Given the description of an element on the screen output the (x, y) to click on. 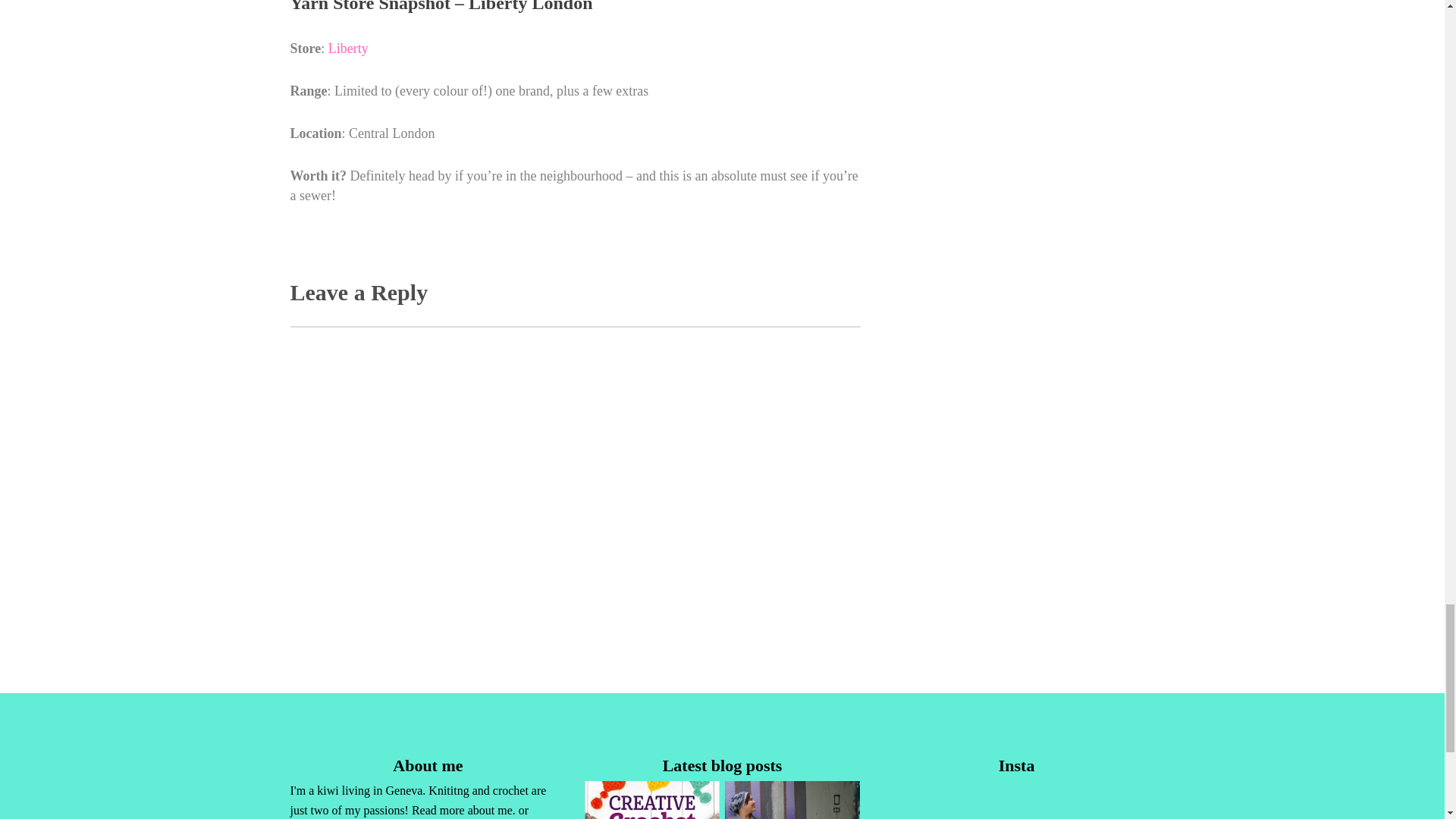
Creative Crochet Projects book review (652, 800)
Liberty (348, 48)
dsc06356 (792, 800)
